Given the description of an element on the screen output the (x, y) to click on. 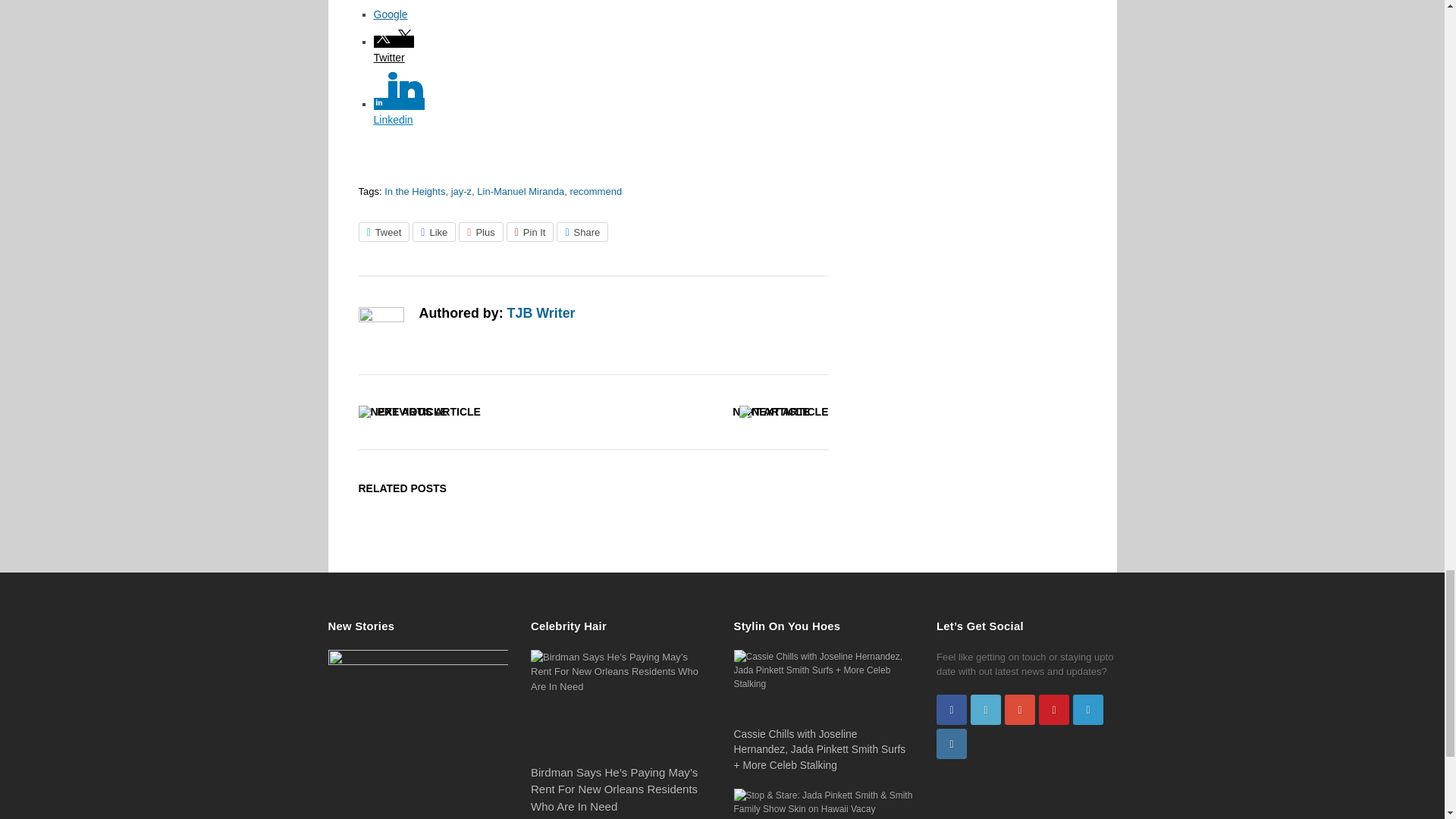
In the Heights (414, 191)
Lin-Manuel Miranda (520, 191)
recommend (595, 191)
Google (398, 14)
Twitter (398, 51)
jay-z (461, 191)
Facebook (398, 1)
Linkedin (398, 112)
